Given the description of an element on the screen output the (x, y) to click on. 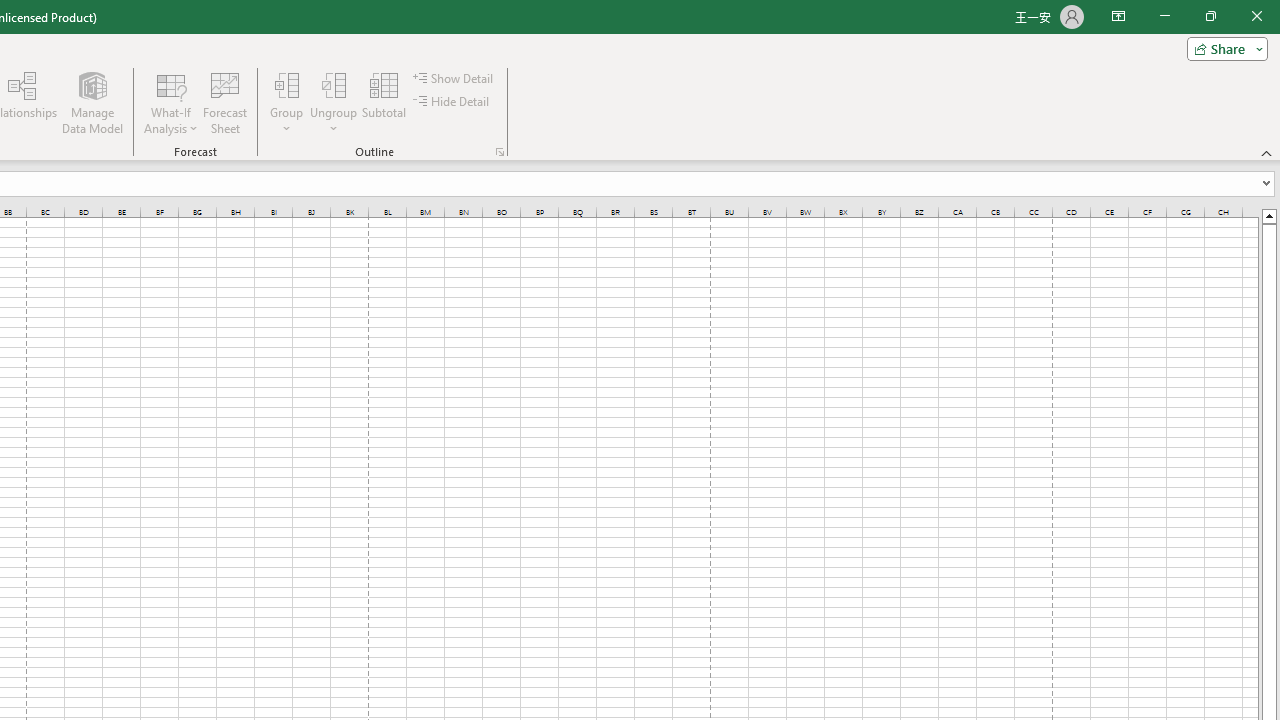
Subtotal (384, 102)
Show Detail (454, 78)
What-If Analysis (171, 102)
Group and Outline Settings (499, 151)
Hide Detail (452, 101)
